Given the description of an element on the screen output the (x, y) to click on. 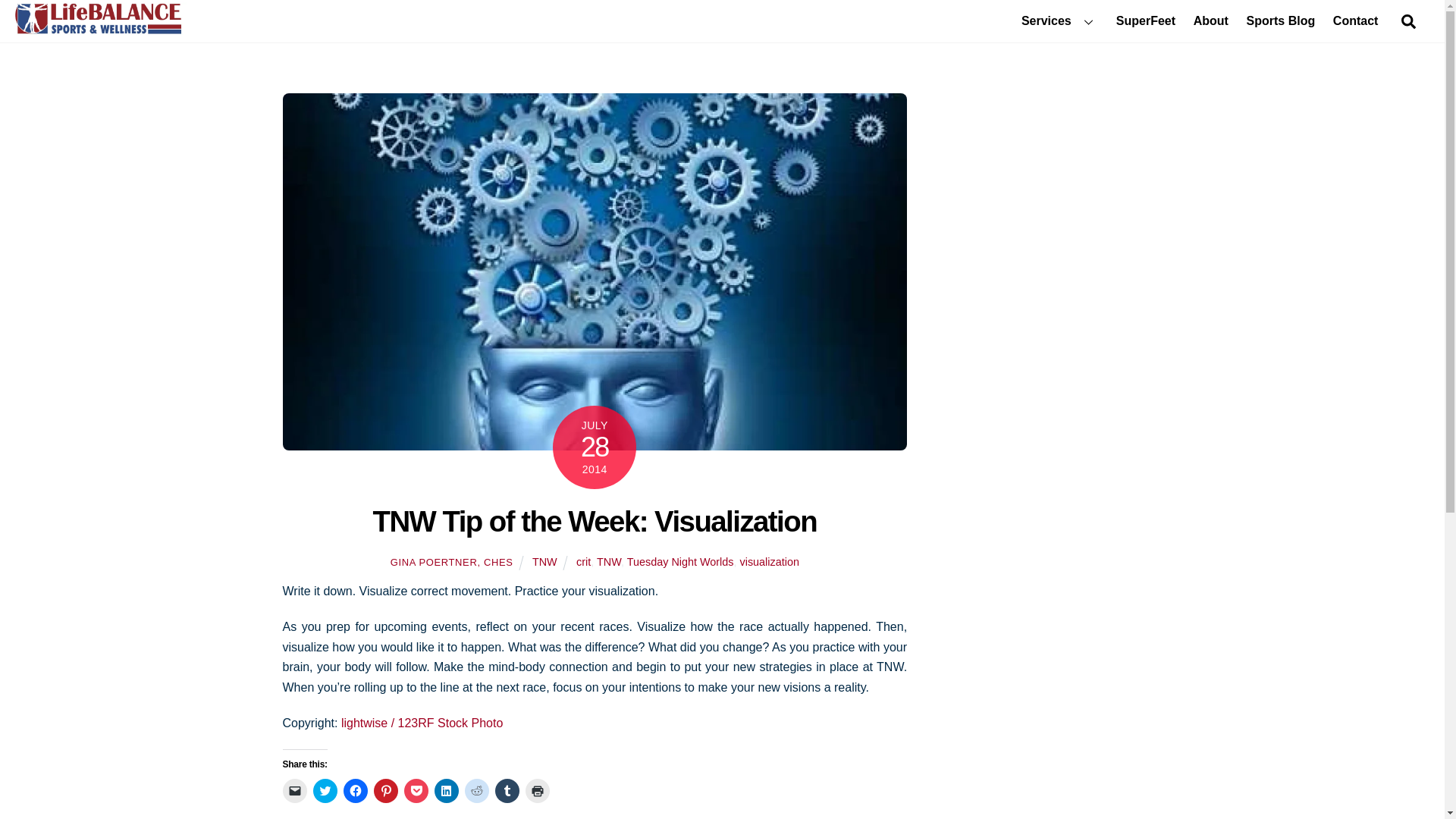
Click to share on Pocket (415, 790)
Click to share on Pinterest (384, 790)
visualization (769, 562)
crit (583, 562)
GINA POERTNER, CHES (451, 562)
Sports Blog (1280, 21)
Click to print (536, 790)
About (1210, 21)
Tuesday Night Worlds (680, 562)
Click to email a link to a friend (293, 790)
Contact (1355, 21)
Click to share on Reddit (475, 790)
Services (1059, 21)
Click to share on Tumblr (506, 790)
